Given the description of an element on the screen output the (x, y) to click on. 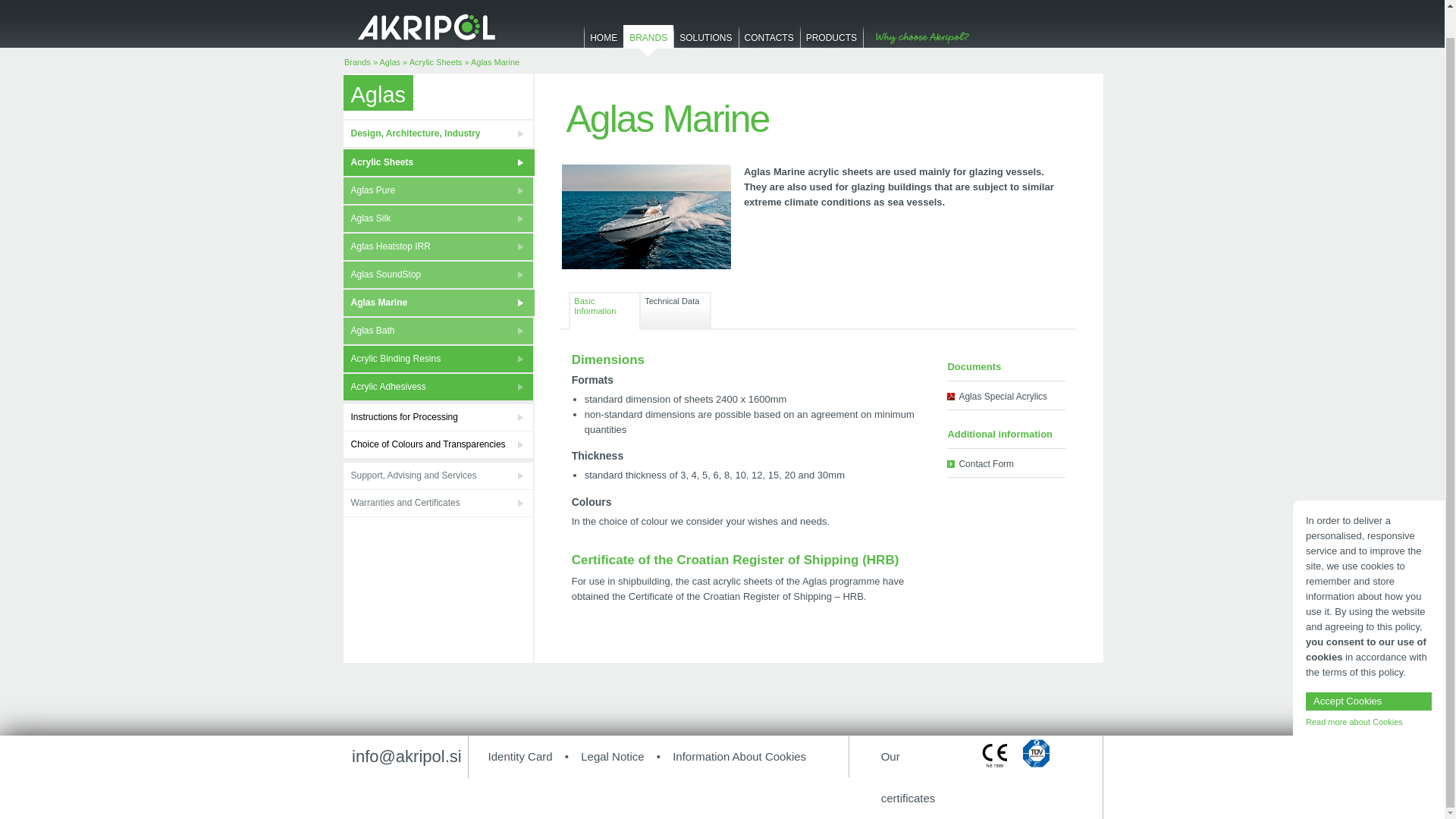
Why choose Akripol? (919, 38)
Akripol (427, 25)
Brands (647, 41)
PRODUCTS (831, 41)
Solutions (705, 41)
Aglas (389, 61)
Home (603, 41)
Brands (357, 61)
SOLUTIONS (705, 41)
Akripol (427, 27)
